Given the description of an element on the screen output the (x, y) to click on. 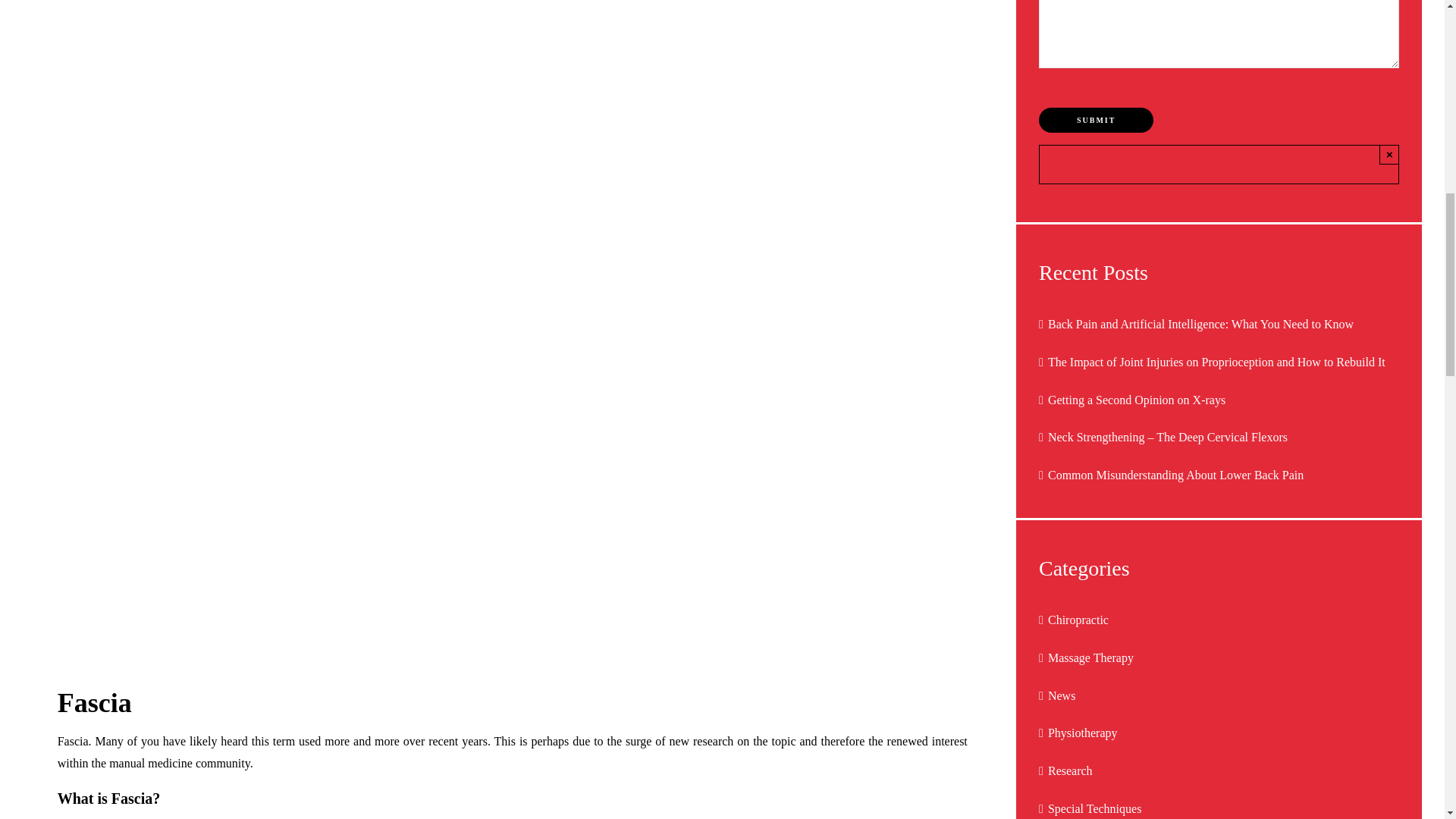
SUBMIT (1096, 119)
